Given the description of an element on the screen output the (x, y) to click on. 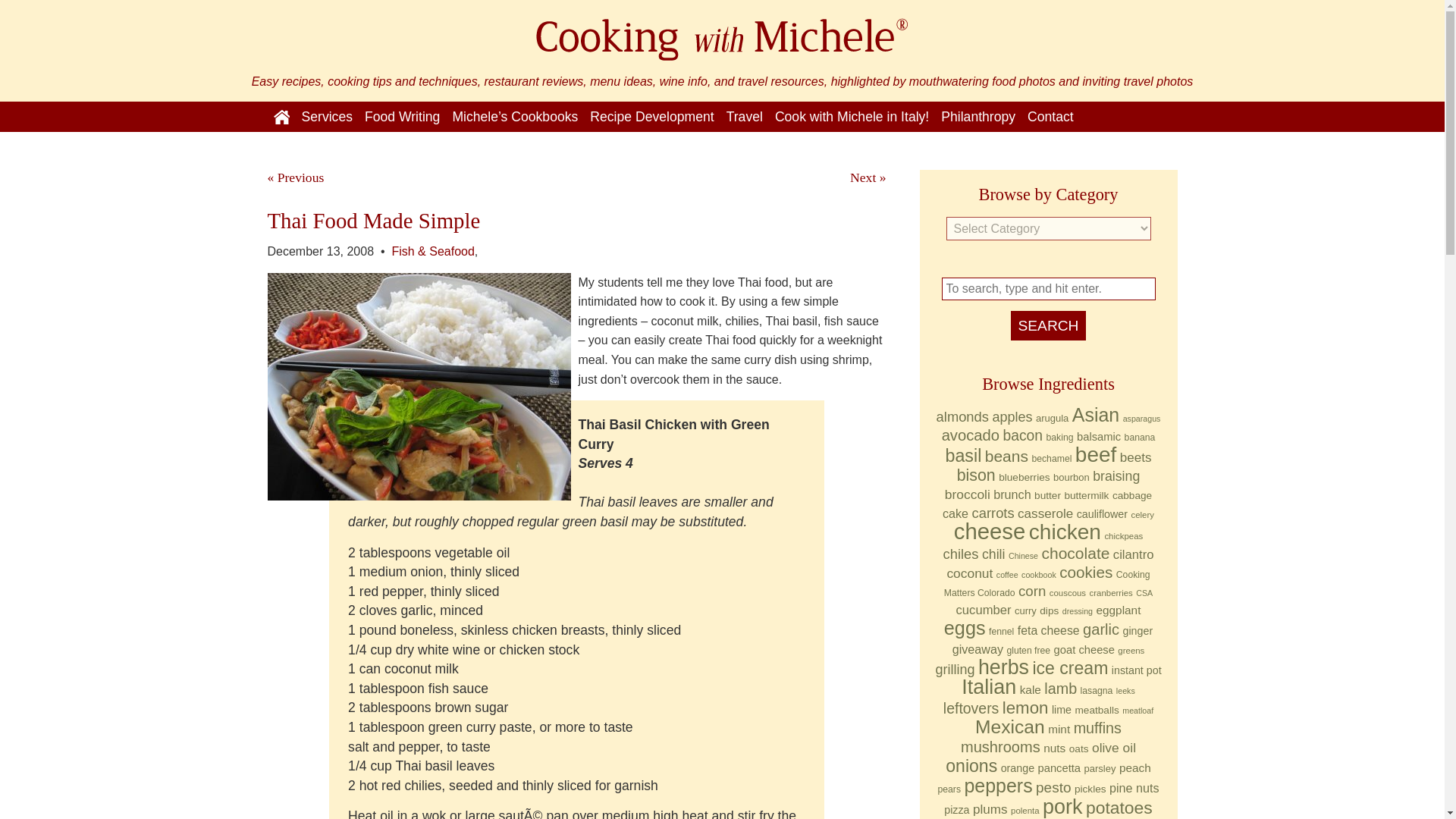
Food Writing (401, 116)
Contact (1051, 116)
Follow Michele on Facebook (1137, 146)
Recipe Development (651, 116)
Get Posts by Email (1054, 146)
Cook with Michele in Italy! (851, 116)
Follow Michele on Twitter (1109, 146)
Travel (744, 116)
Follow Michele on Pinterest (1164, 146)
Services (326, 116)
